Given the description of an element on the screen output the (x, y) to click on. 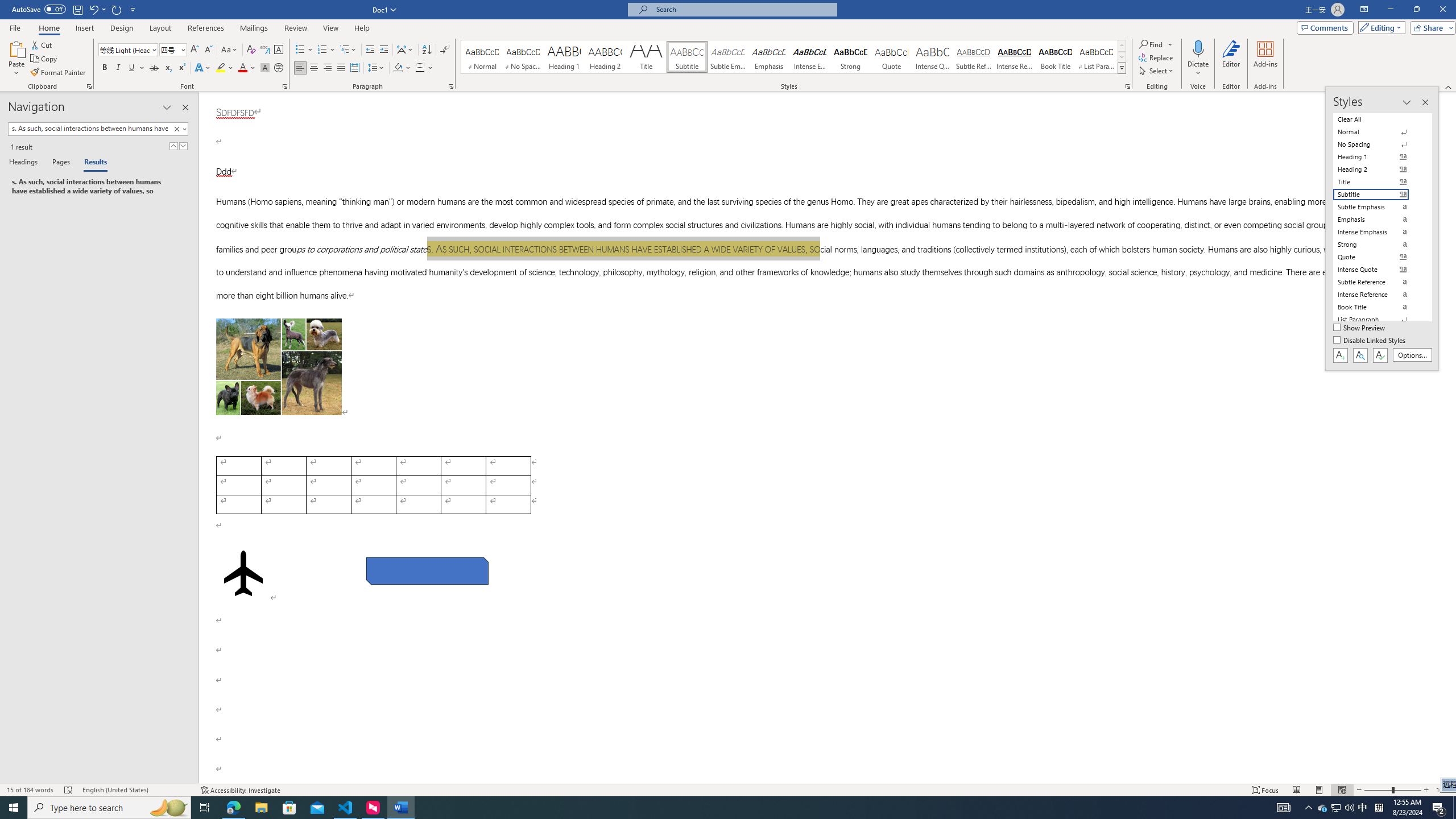
Comments (1325, 27)
Decrease Indent (370, 49)
System (6, 6)
Task Pane Options (167, 107)
AutoSave (38, 9)
Intense Reference (1014, 56)
Read Mode (1296, 790)
Class: NetUIScrollBar (1450, 437)
Center (313, 67)
Undo Style (92, 9)
Results (91, 162)
Change Case (229, 49)
Strong (849, 56)
Numbering (326, 49)
